Given the description of an element on the screen output the (x, y) to click on. 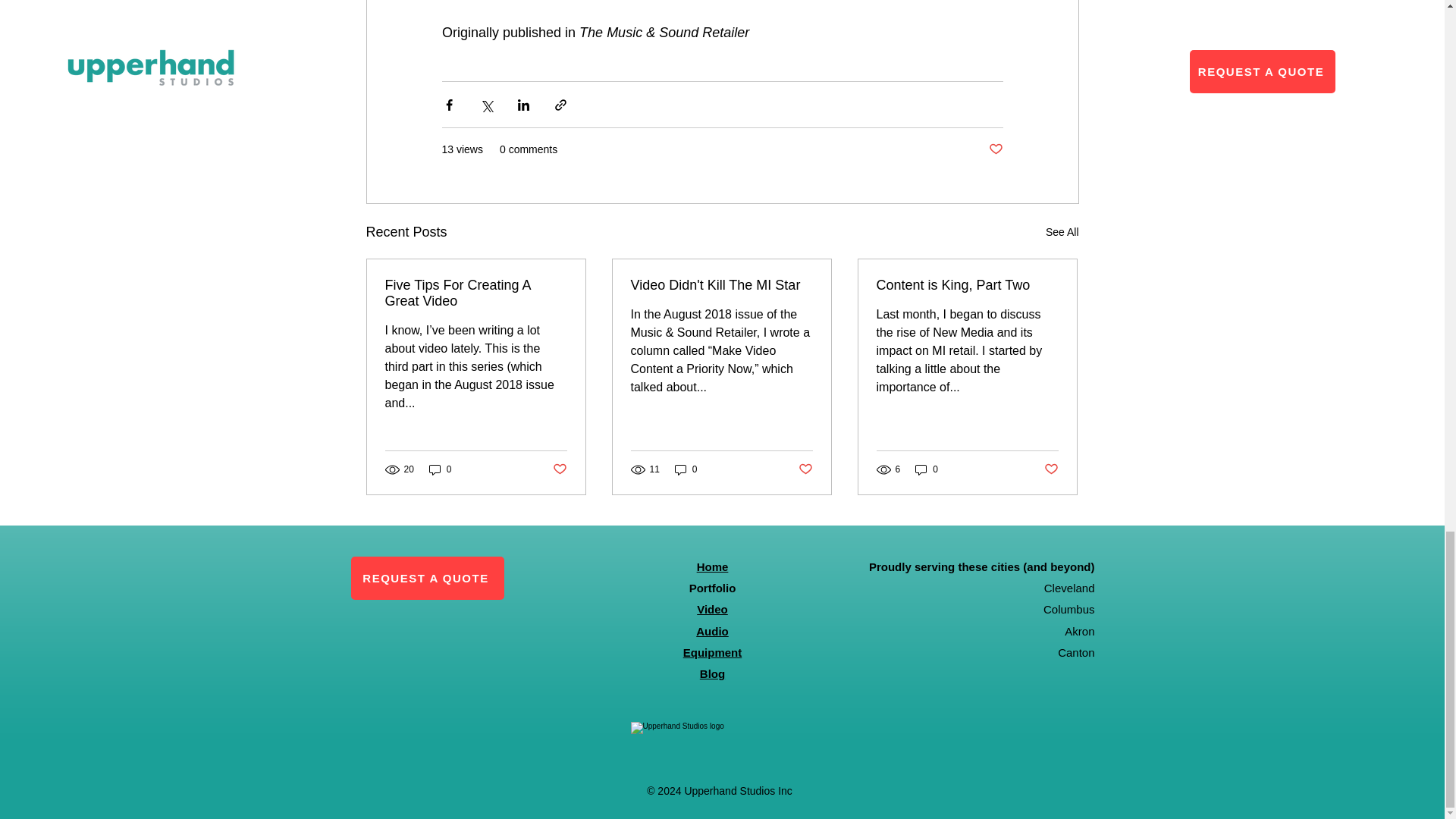
Video (712, 608)
Post not marked as liked (1050, 469)
0 (440, 468)
Audio (712, 631)
Blog (712, 673)
Post not marked as liked (558, 469)
Video Didn't Kill The MI Star (721, 285)
Post not marked as liked (995, 149)
See All (1061, 232)
Home (713, 566)
